Given the description of an element on the screen output the (x, y) to click on. 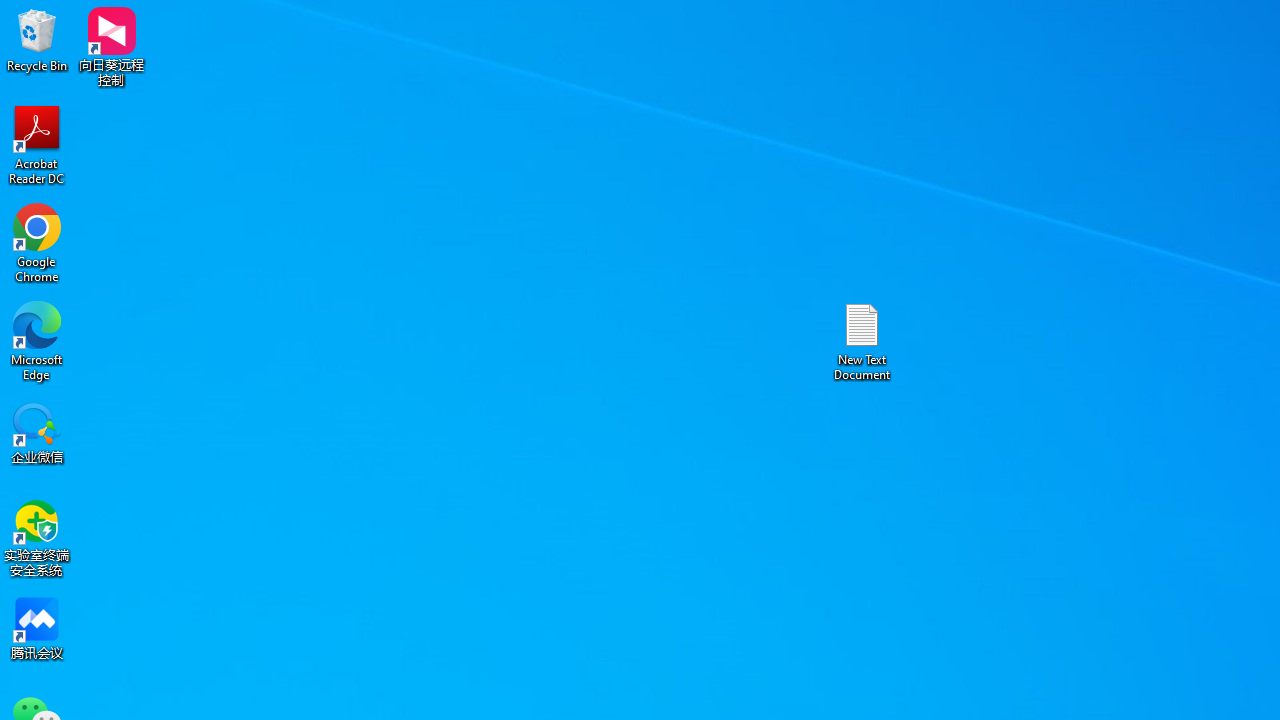
Object... (1141, 102)
New Photo Album... (259, 84)
Icons (424, 102)
Symbol... (1252, 102)
Date & Time... (1050, 102)
Power BI (630, 102)
Table (86, 102)
